Given the description of an element on the screen output the (x, y) to click on. 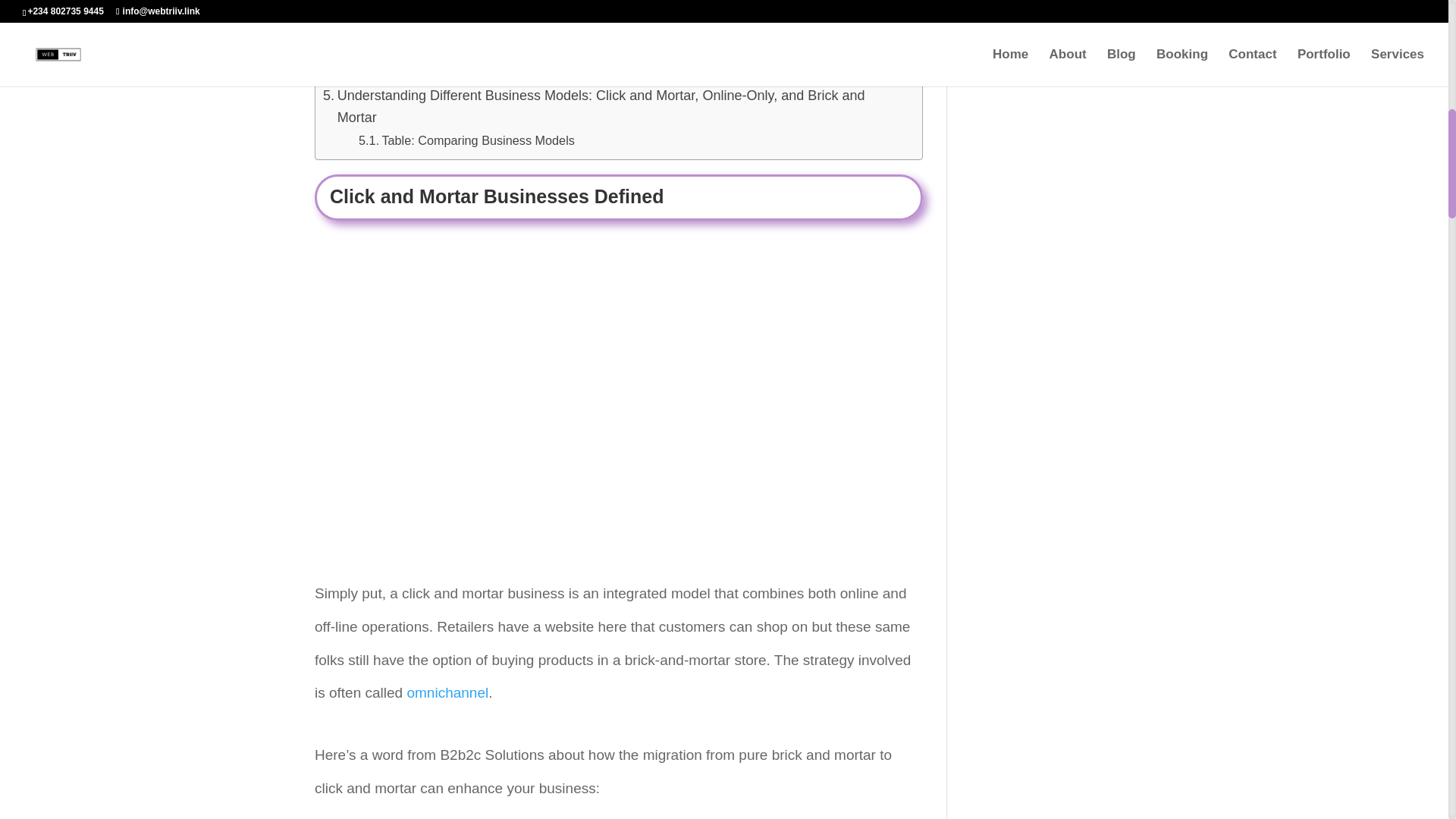
Click and Mortar Businesses Defined (441, 9)
Click and Mortar Businesses Defined (441, 9)
omnichannel (446, 692)
How Click and Mortar Businesses Work (449, 29)
How Click and Mortar Businesses Work (449, 29)
Table: Comparing Business Models (466, 139)
